Given the description of an element on the screen output the (x, y) to click on. 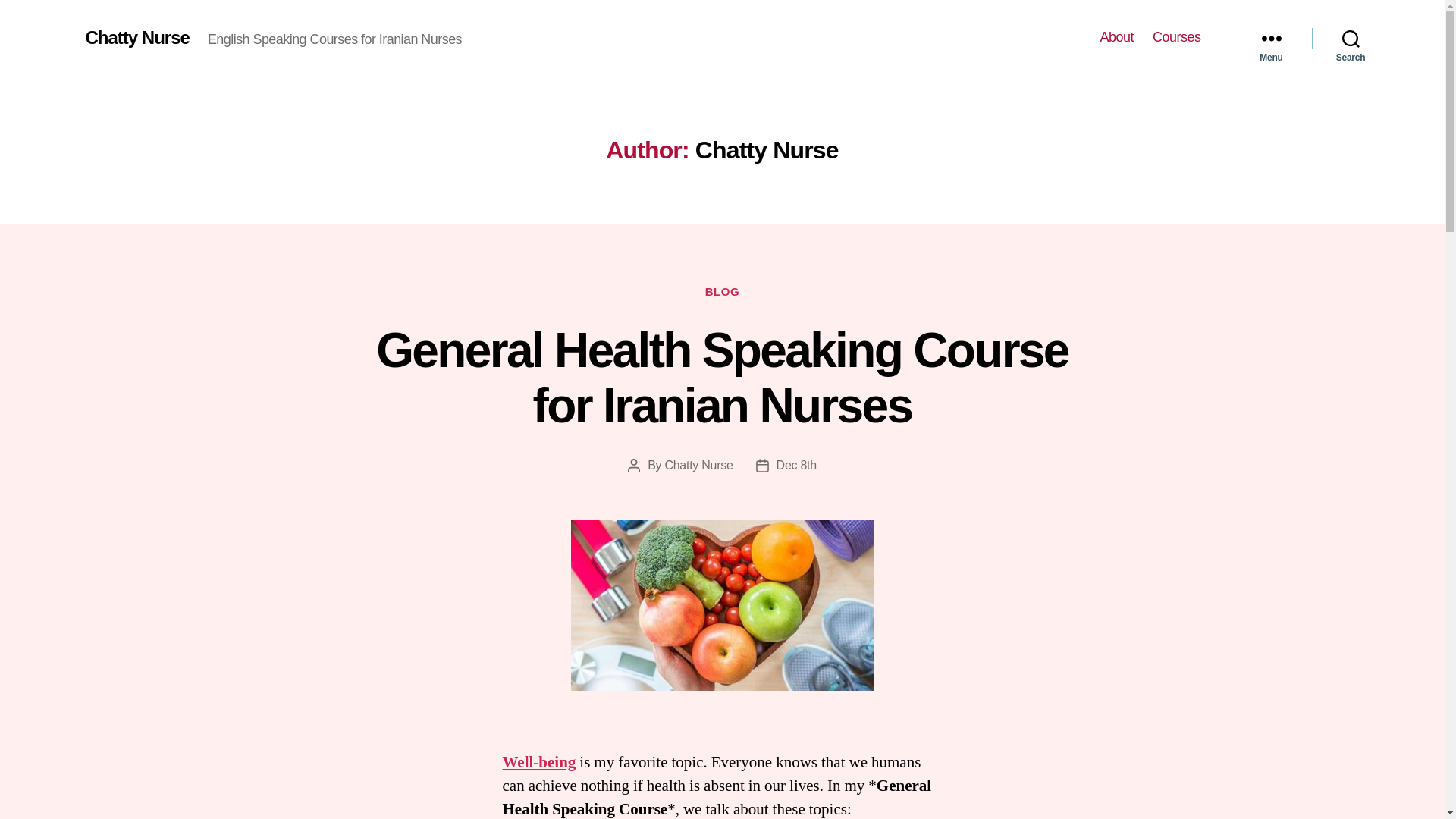
Chatty Nurse (136, 37)
BLOG (721, 292)
Search (1350, 37)
About (1116, 37)
Well-being (538, 762)
Chatty Nurse (697, 464)
General Health Speaking Course for Iranian Nurses (721, 377)
Dec 8th (796, 464)
Menu (1271, 37)
Courses (1177, 37)
